Given the description of an element on the screen output the (x, y) to click on. 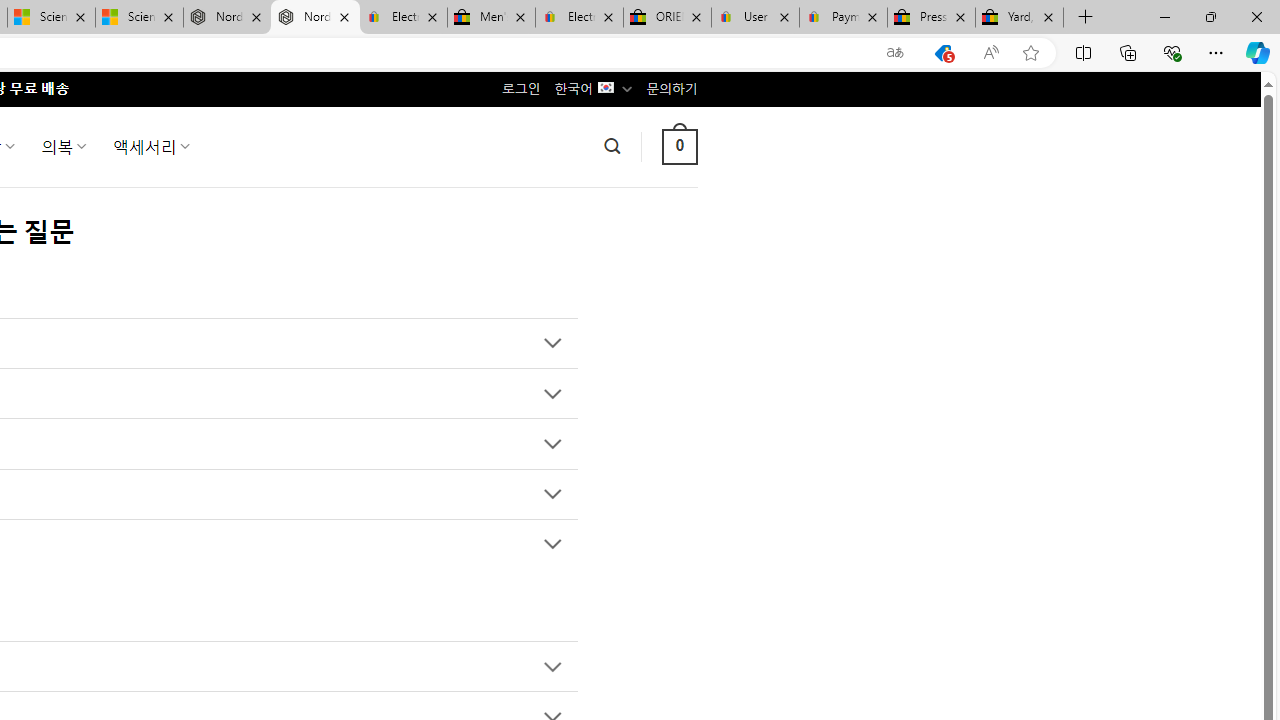
Nordace - FAQ (315, 17)
  0   (679, 146)
Payments Terms of Use | eBay.com (843, 17)
